Given the description of an element on the screen output the (x, y) to click on. 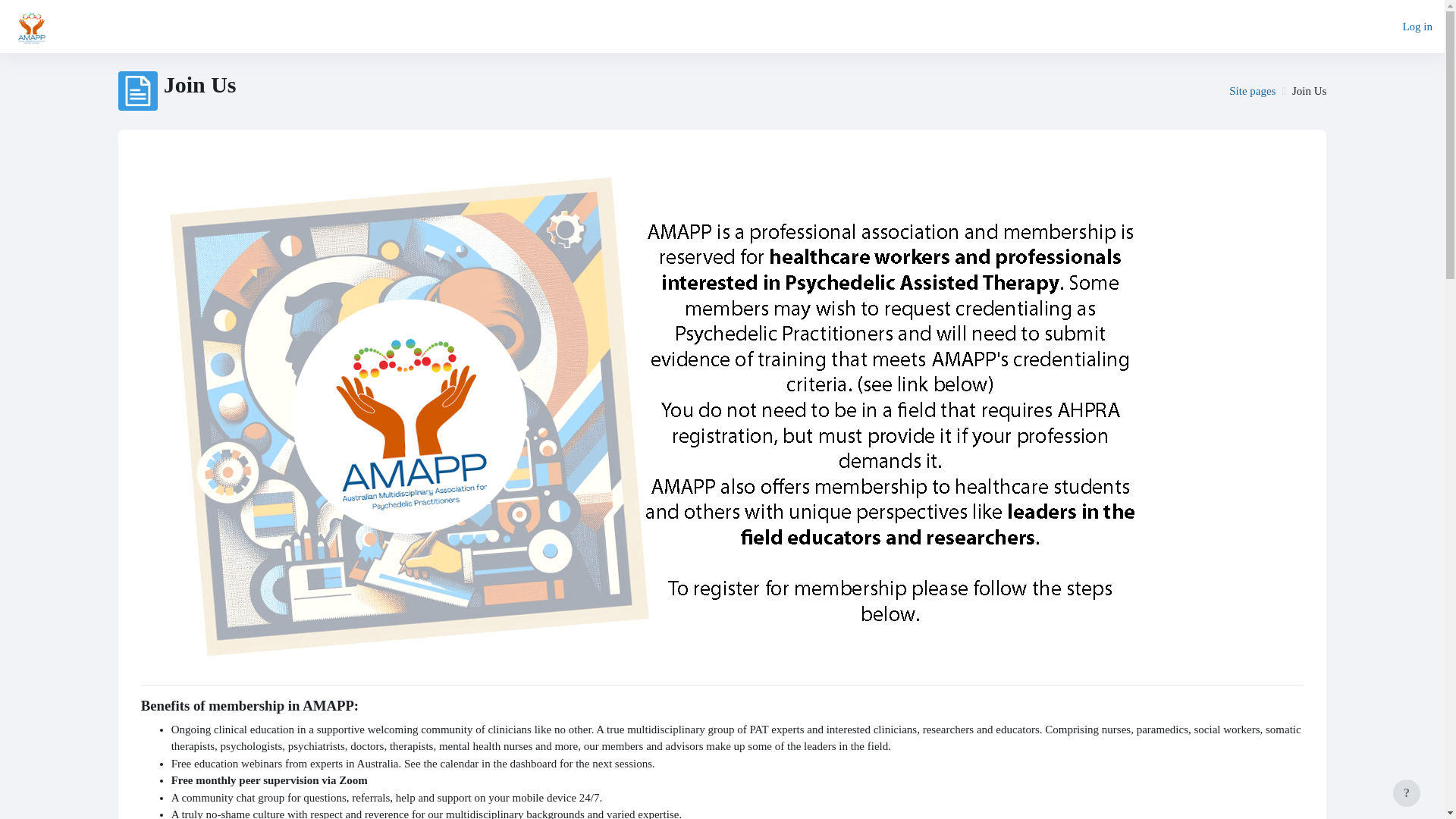
Log in (1417, 27)
